Given the description of an element on the screen output the (x, y) to click on. 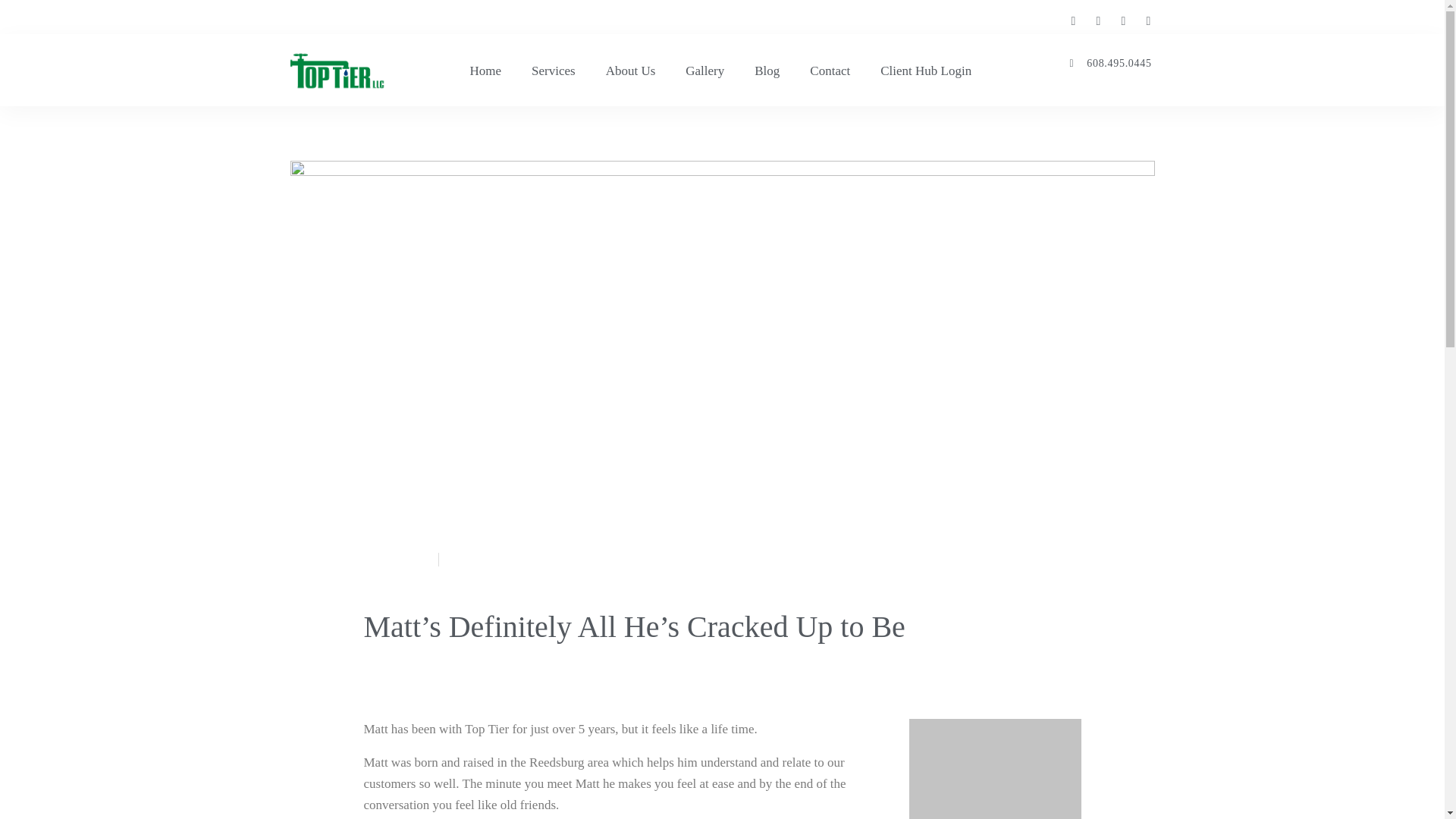
Services (553, 71)
Contact (829, 71)
Gallery (704, 71)
About Us (631, 71)
Client Hub Login (925, 71)
Home (485, 71)
Blog (766, 71)
